Given the description of an element on the screen output the (x, y) to click on. 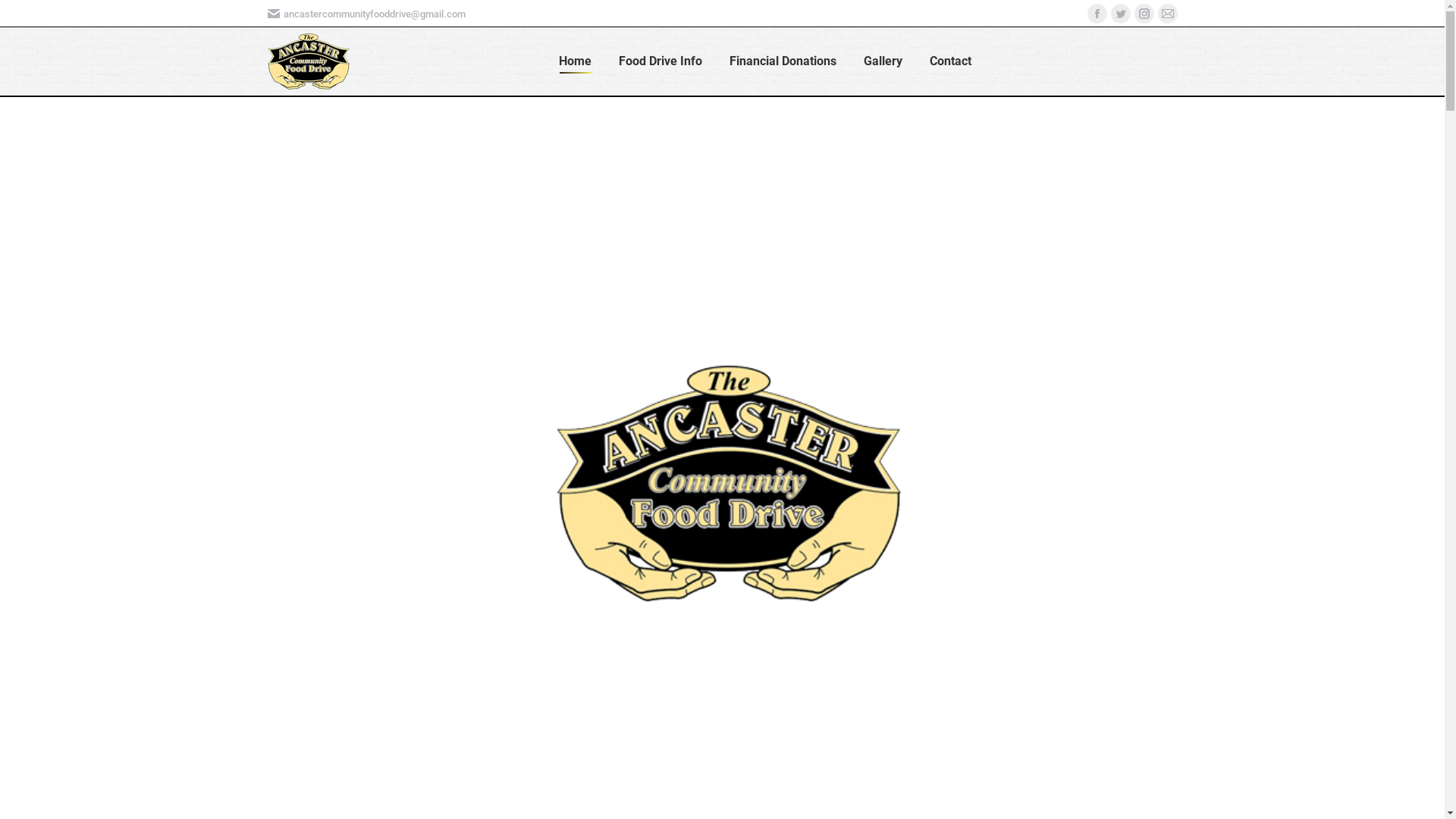
Instagram page opens in new window Element type: text (1144, 13)
Home Element type: text (574, 60)
Twitter page opens in new window Element type: text (1119, 13)
Gallery Element type: text (882, 60)
Food Drive Info Element type: text (660, 60)
Mail page opens in new window Element type: text (1166, 13)
Facebook page opens in new window Element type: text (1097, 13)
Contact Element type: text (950, 60)
Financial Donations Element type: text (782, 60)
